Given the description of an element on the screen output the (x, y) to click on. 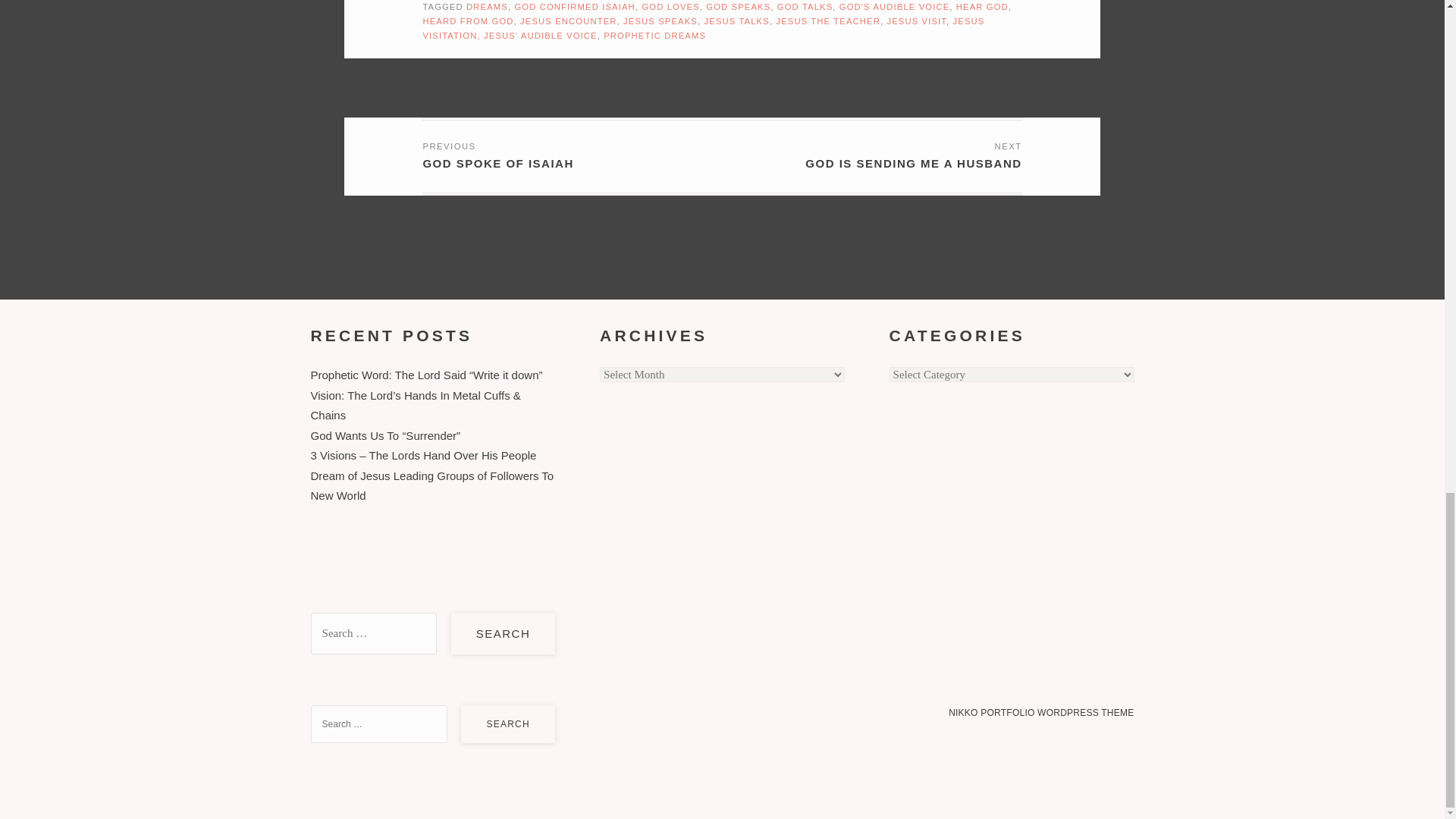
GOD TALKS (804, 6)
GOD LOVES (670, 6)
Search (503, 633)
GOD SPEAKS (738, 6)
GOD'S AUDIBLE VOICE (894, 6)
GOD CONFIRMED ISAIAH (573, 6)
DREAMS (486, 6)
Search (507, 724)
Search (507, 724)
Search (503, 633)
